Given the description of an element on the screen output the (x, y) to click on. 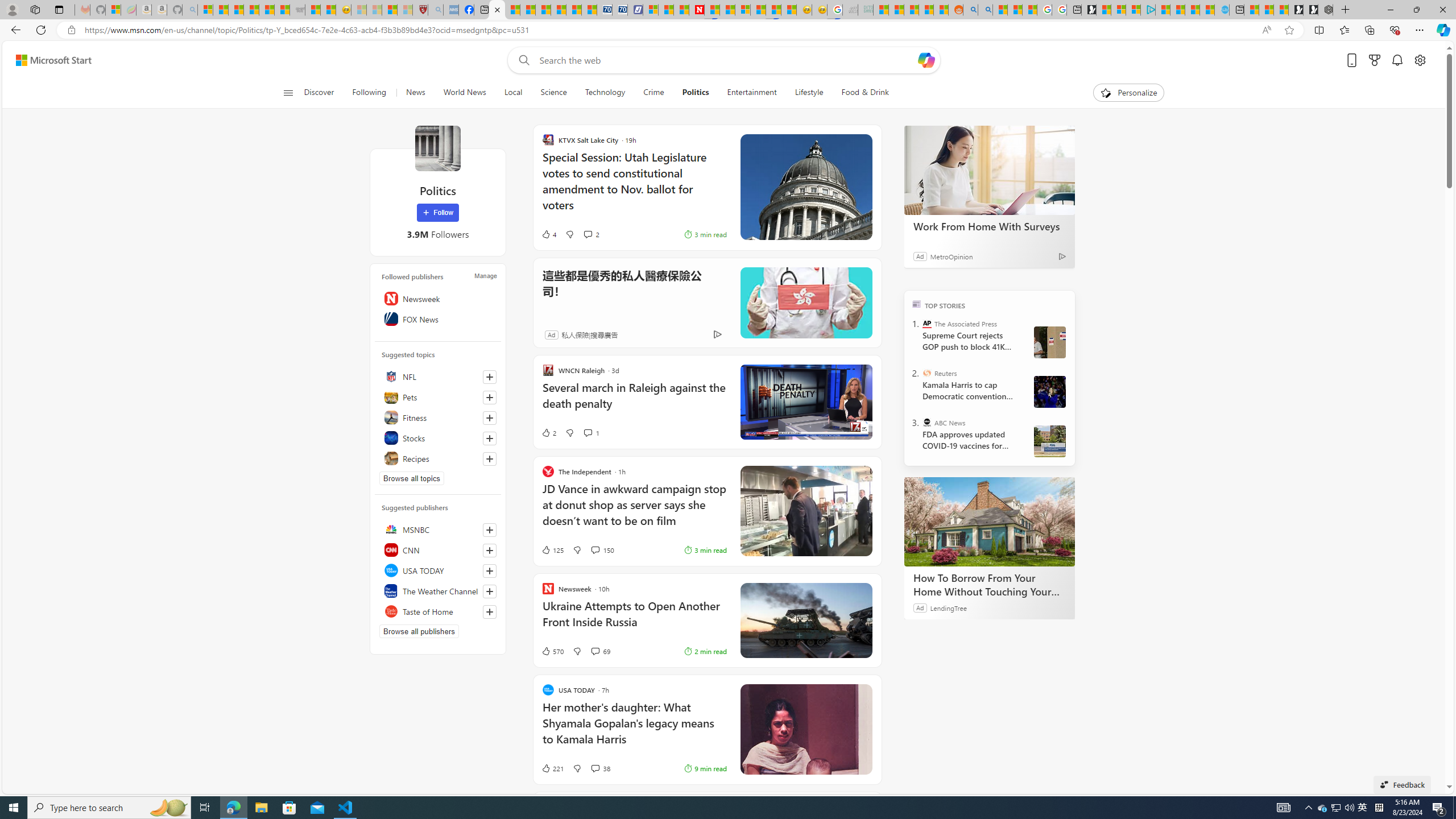
12 Popular Science Lies that Must be Corrected - Sleeping (405, 9)
View comments 150 Comment (594, 549)
Reuters (927, 372)
221 Like (551, 768)
